Given the description of an element on the screen output the (x, y) to click on. 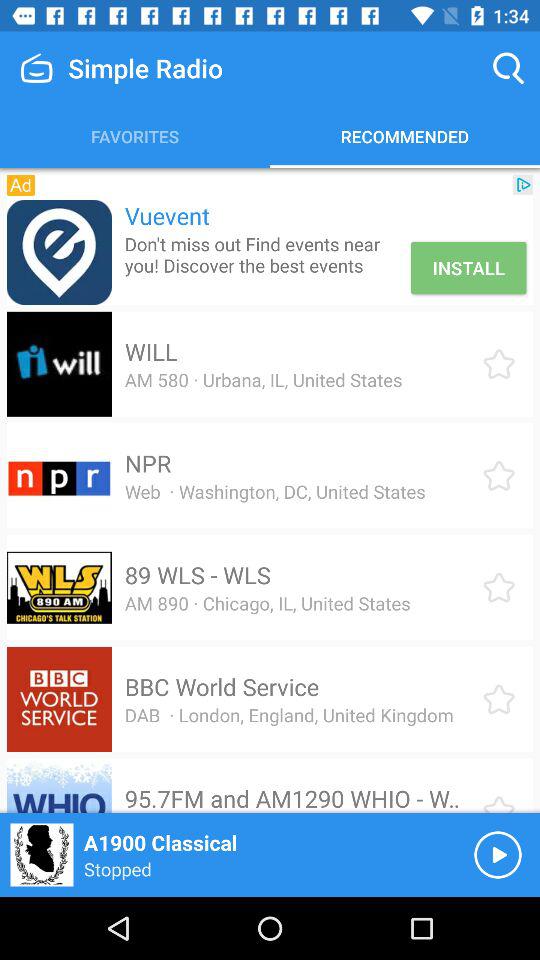
choose the item above am 890 chicago (197, 575)
